Given the description of an element on the screen output the (x, y) to click on. 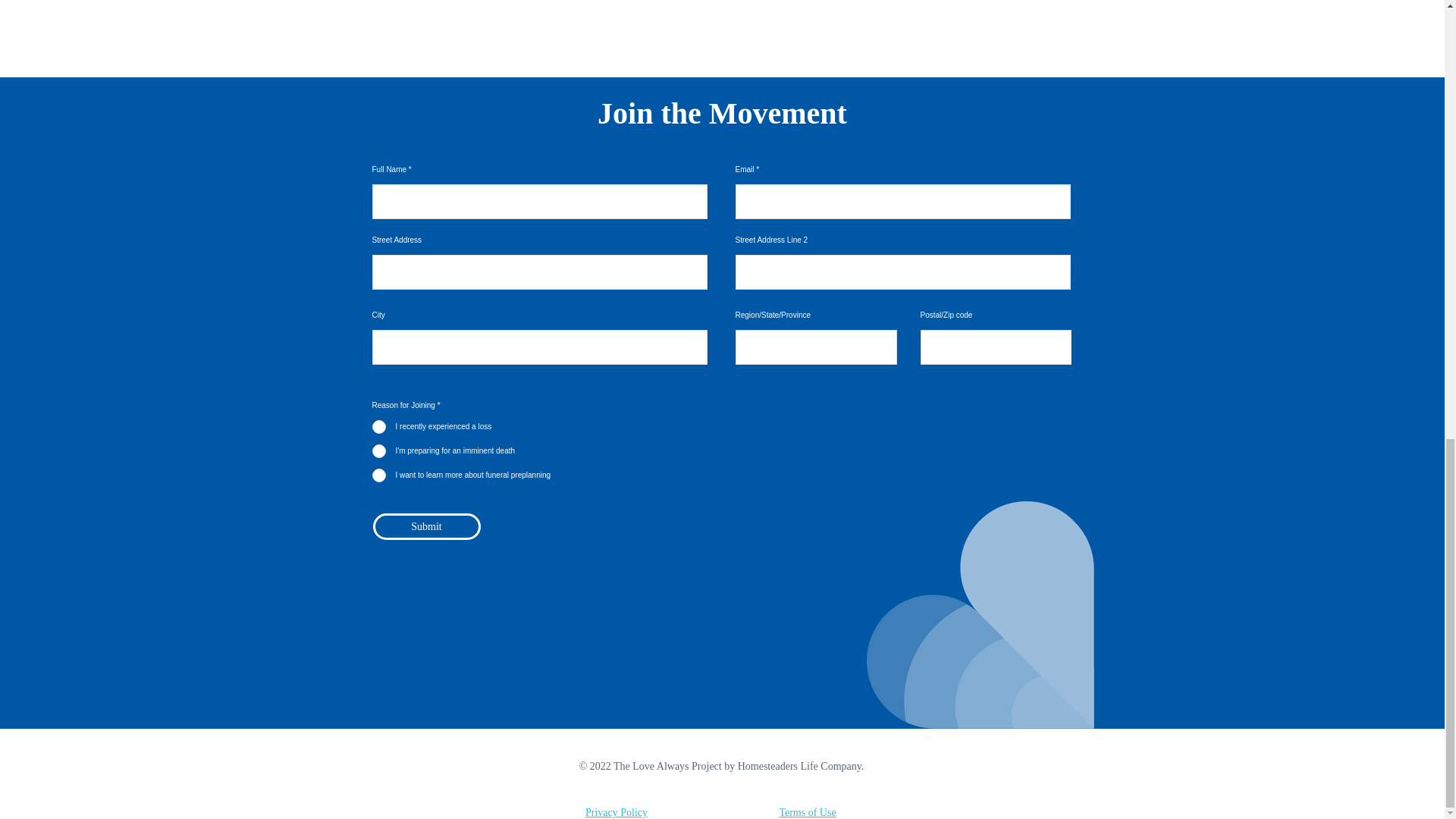
Terms of Use (806, 811)
Privacy Policy (616, 811)
Submit (426, 526)
